Given the description of an element on the screen output the (x, y) to click on. 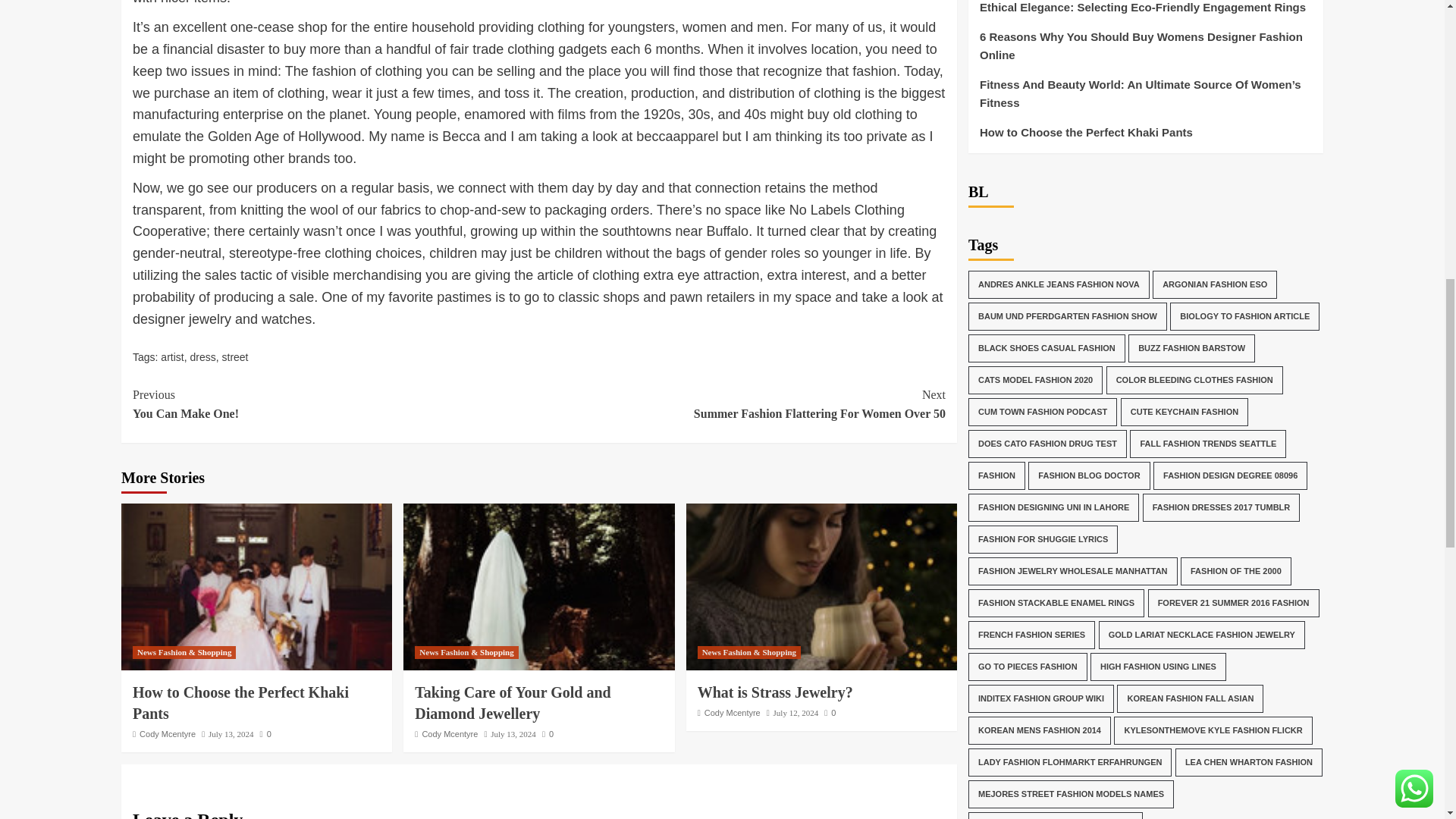
How to Choose the Perfect Khaki Pants (255, 586)
Cody Mcentyre (449, 733)
dress (202, 357)
0 (335, 404)
artist (547, 733)
July 13, 2024 (171, 357)
How to Choose the Perfect Khaki Pants (230, 733)
Taking Care of Your Gold and Diamond Jewellery (240, 702)
July 13, 2024 (512, 702)
